Given the description of an element on the screen output the (x, y) to click on. 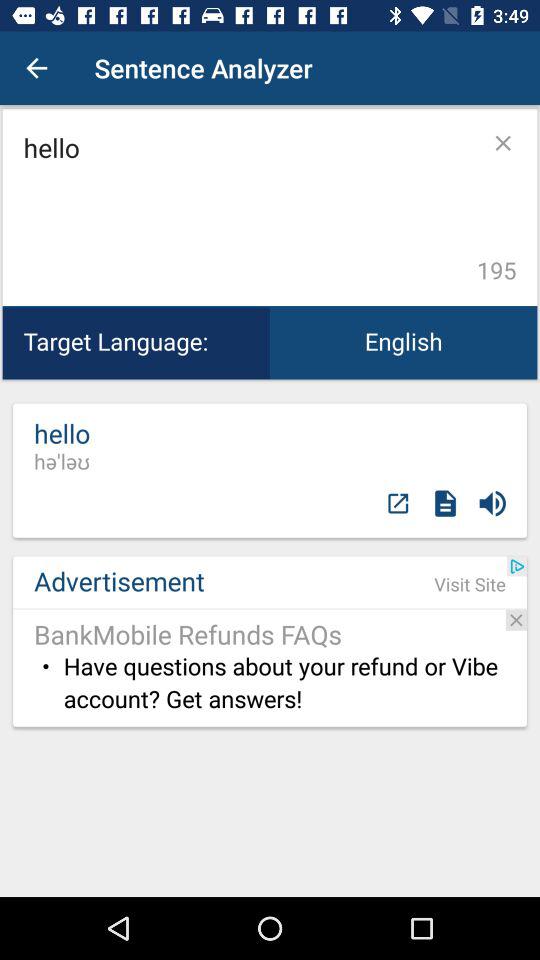
tap icon next to the sentence analyzer icon (36, 68)
